Given the description of an element on the screen output the (x, y) to click on. 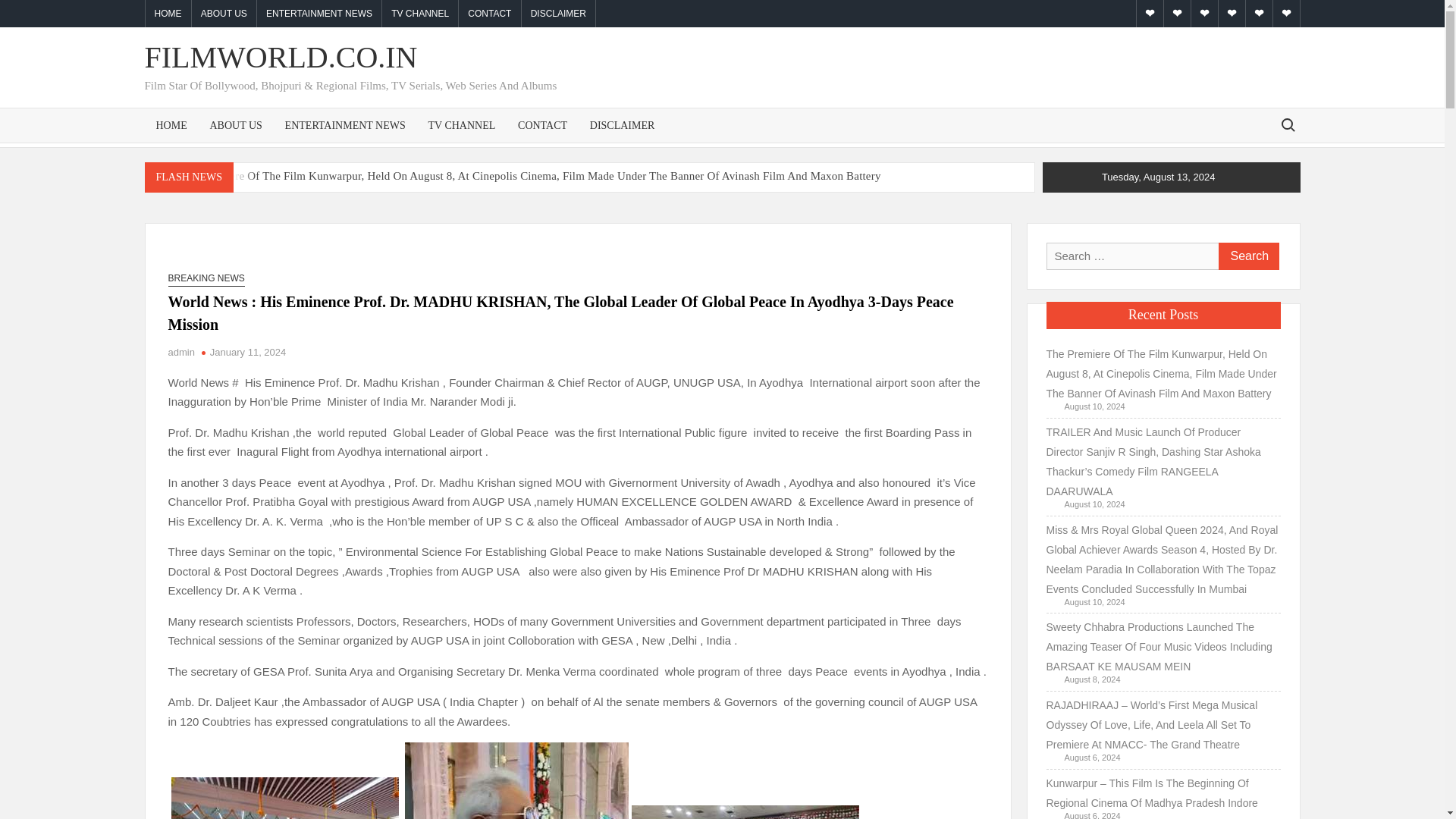
DISCLAIMER (622, 124)
Search (1247, 256)
FILMWORLD.CO.IN (280, 57)
ENTERTAINMENT NEWS (319, 13)
DISCLAIMER (558, 13)
TV CHANNEL (419, 13)
ENTERTAINMENT NEWS (344, 124)
ABOUT US (224, 13)
TV CHANNEL (461, 124)
